Given the description of an element on the screen output the (x, y) to click on. 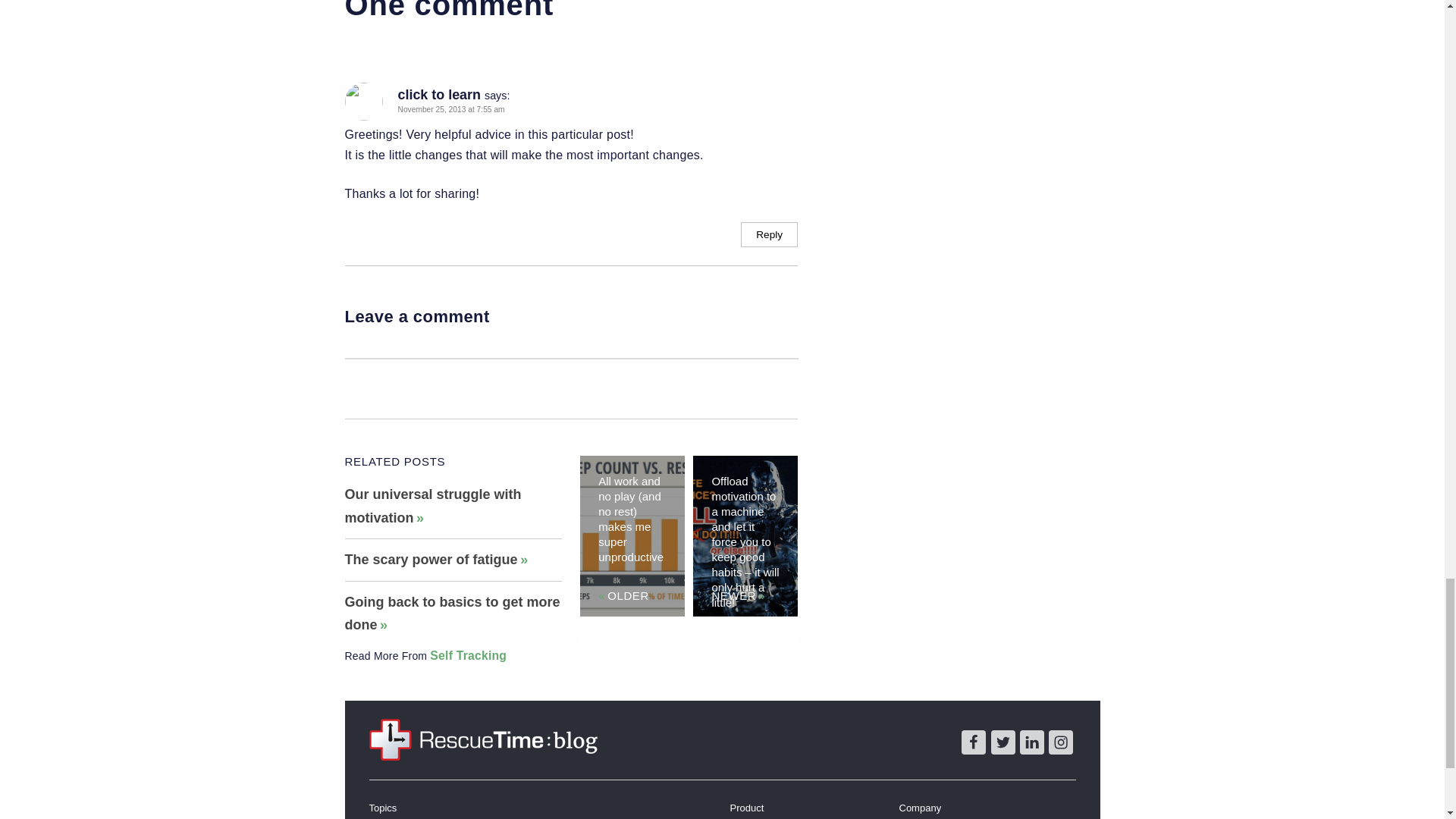
Reply (769, 234)
Self Tracking (467, 655)
Self Tracking (467, 655)
November 25, 2013 at 7:55 am (450, 109)
The scary power of fatigue (435, 559)
Our universal struggle with motivation (432, 505)
Going back to basics to get more done (451, 613)
